Given the description of an element on the screen output the (x, y) to click on. 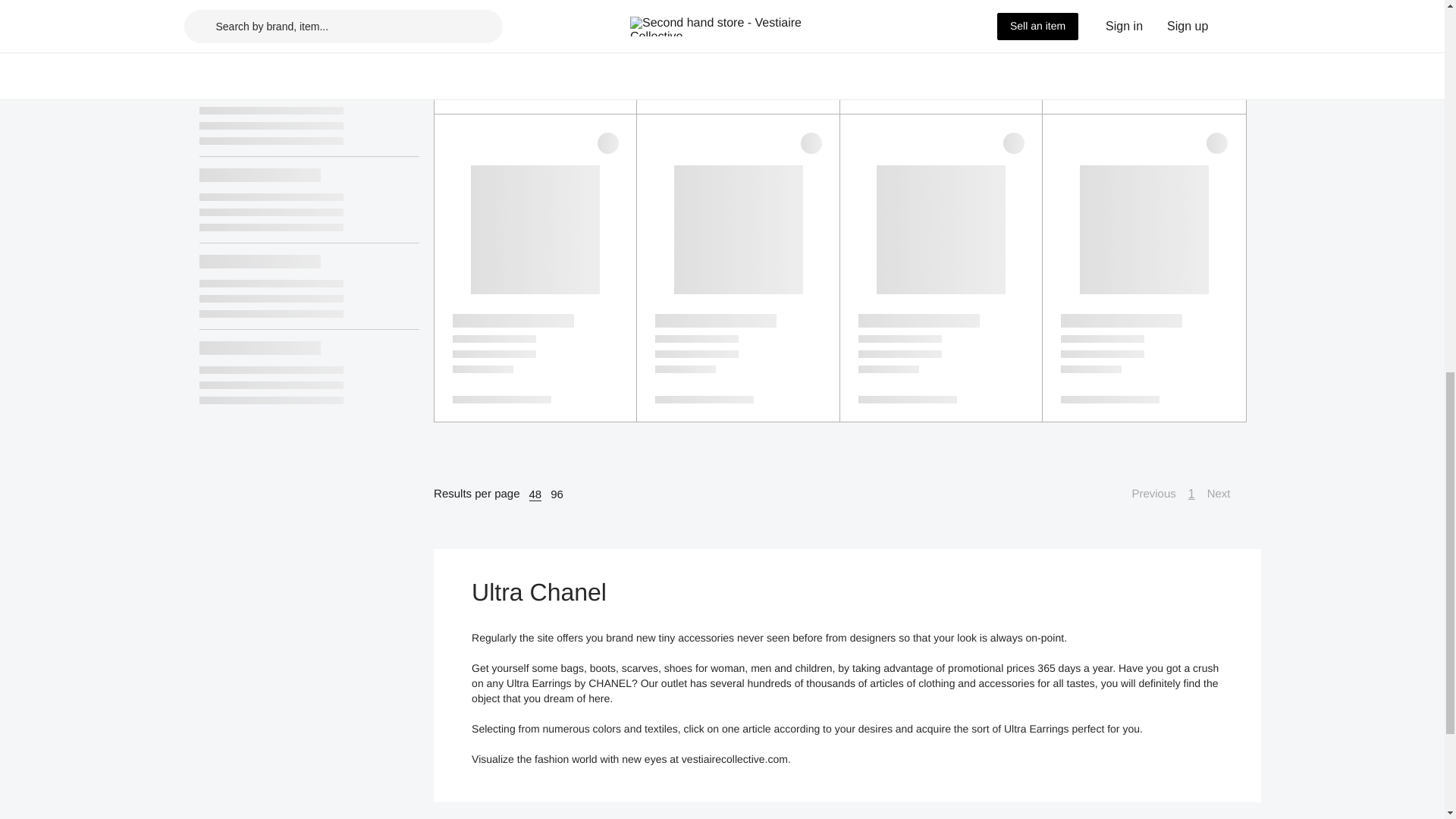
1 (1191, 494)
48 (535, 494)
Next (1226, 494)
96 (556, 494)
Previous (1145, 494)
